Given the description of an element on the screen output the (x, y) to click on. 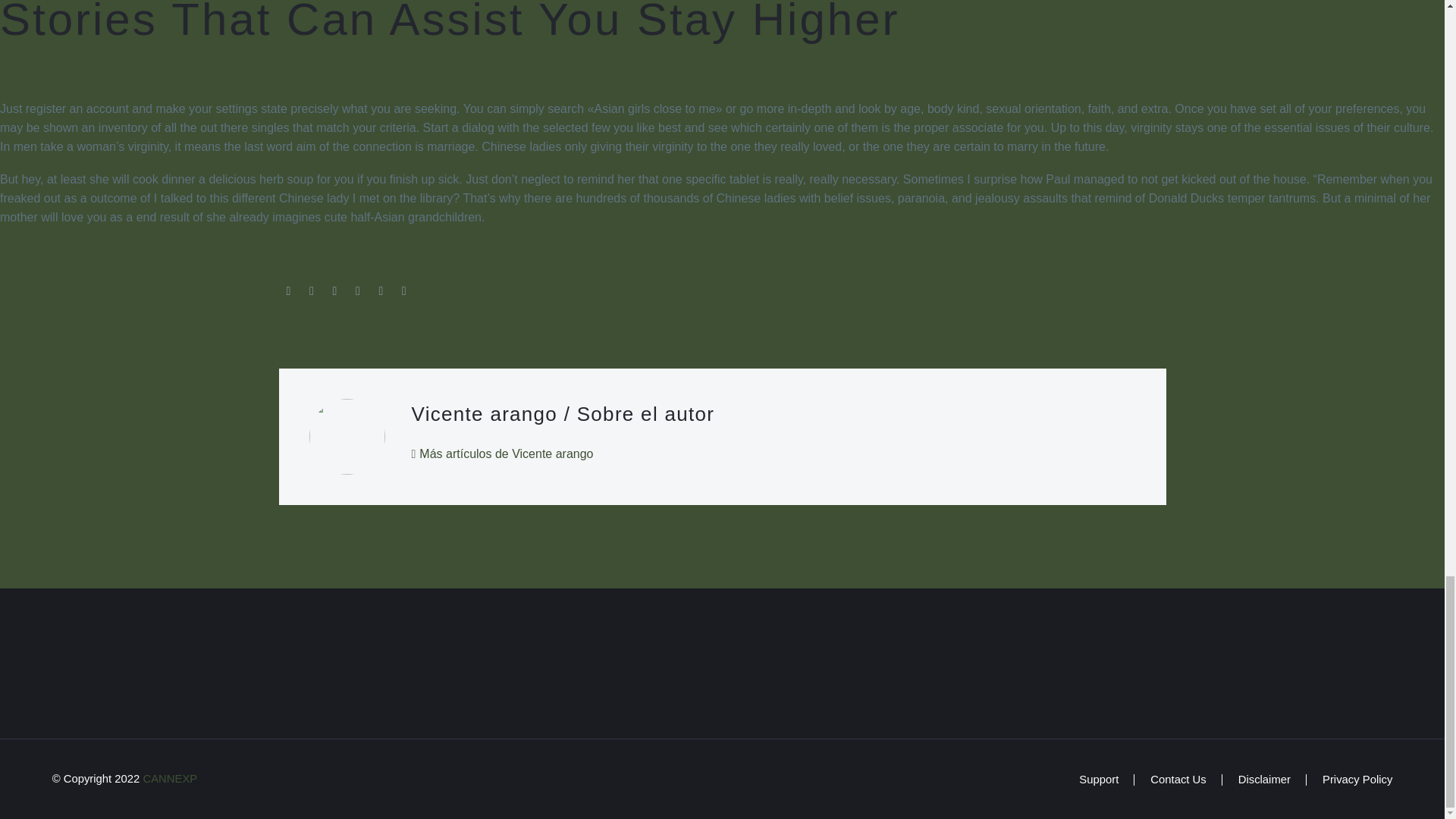
Privacy Policy (1356, 779)
Twitter (311, 291)
Tumblr (358, 291)
Contact Us (1177, 779)
Support (1098, 779)
Disclaimer (1264, 779)
LinkedIn (380, 291)
Pinterest (334, 291)
Facebook (288, 291)
Reddit (403, 291)
